Given the description of an element on the screen output the (x, y) to click on. 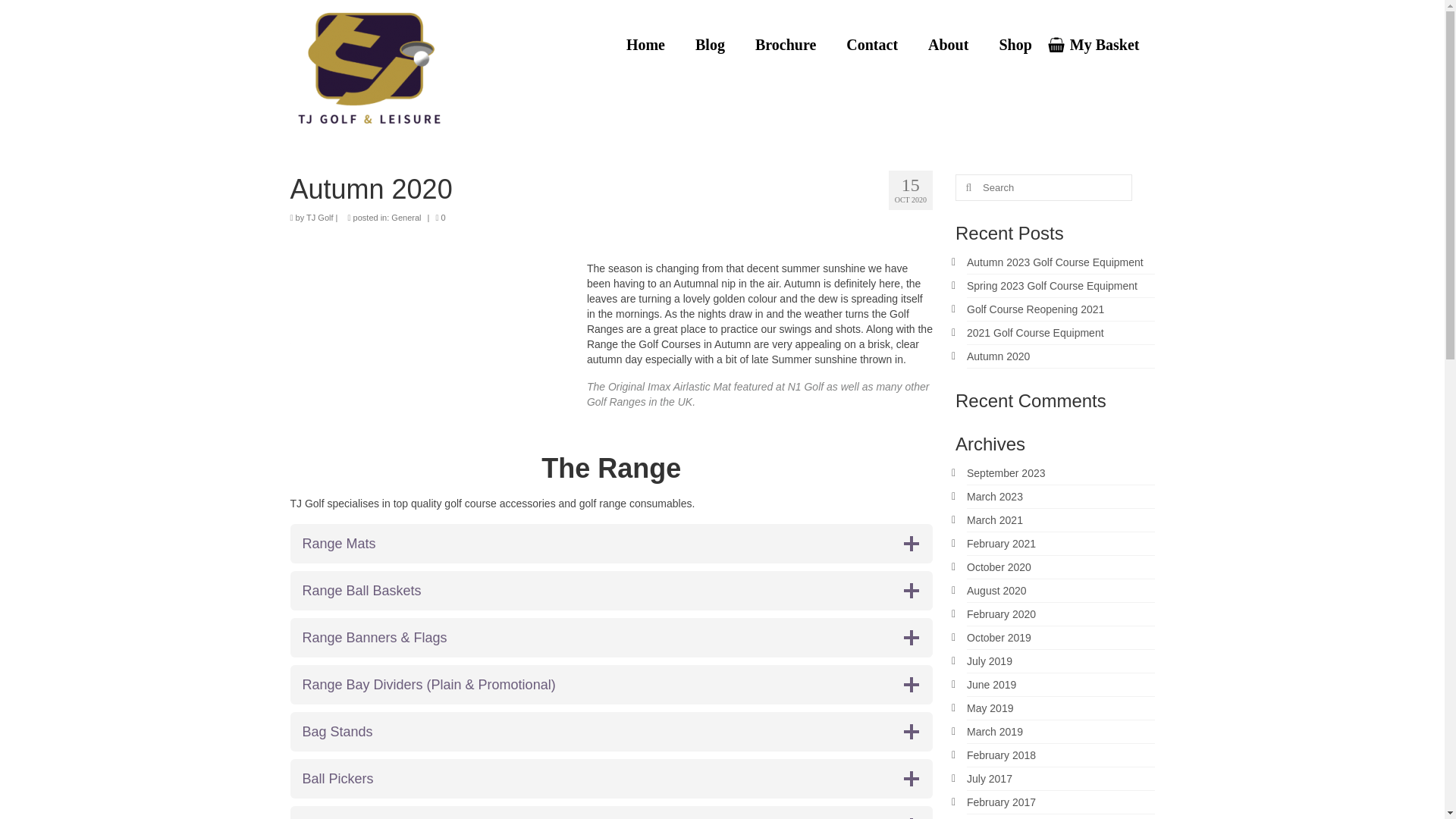
Home (645, 44)
About (948, 44)
TJ Golf (319, 216)
General (405, 216)
Blog (709, 44)
Range Ball Baskets (611, 590)
My Basket (1100, 44)
Brochure (785, 44)
Range Mats (611, 543)
Contact (871, 44)
